Given the description of an element on the screen output the (x, y) to click on. 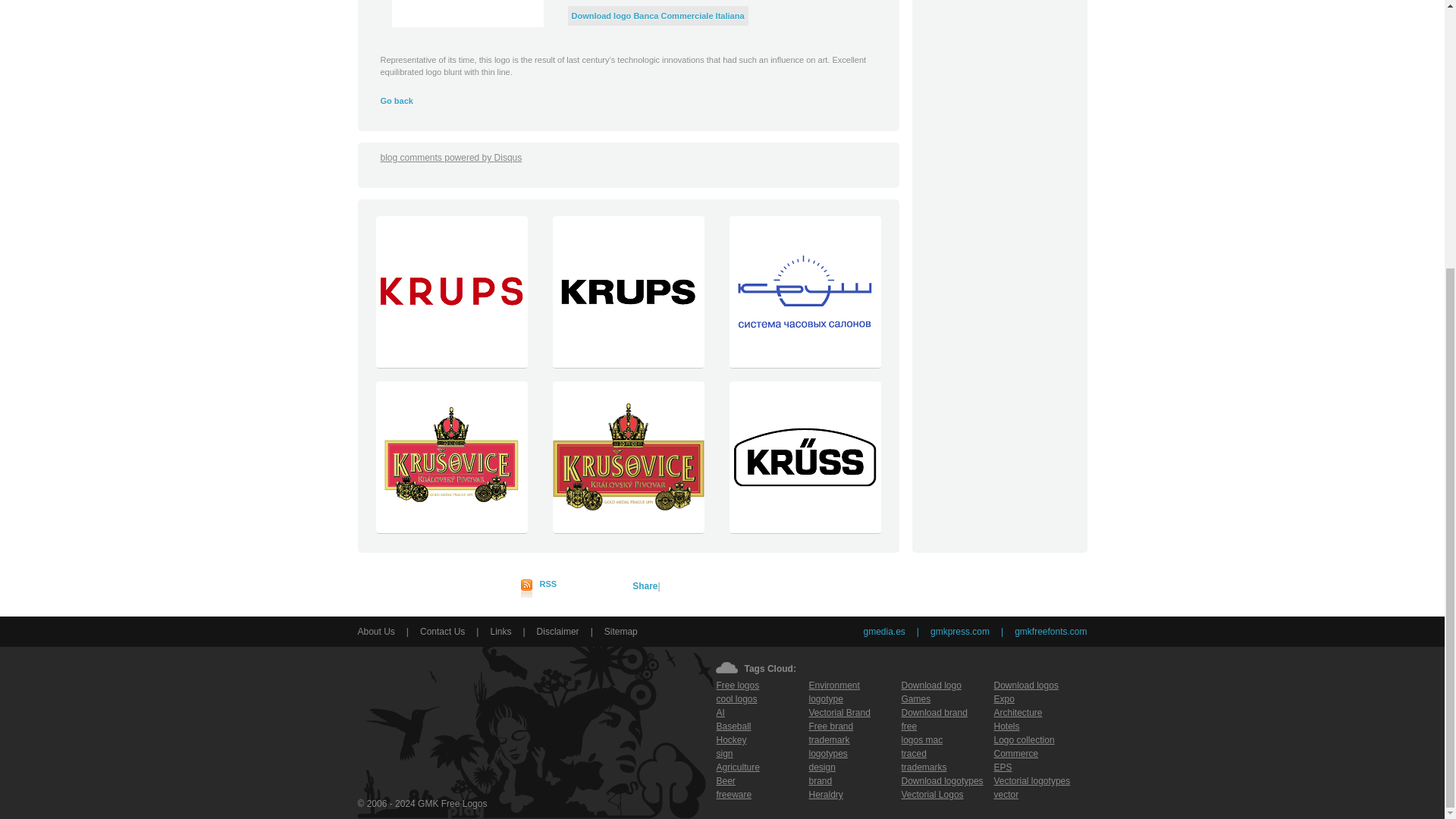
Download Logo Krusovice (450, 529)
Download Banca Commerciale Italiana (658, 15)
Download Logo Krups (450, 364)
Download Logo Krush (804, 364)
Download Logo Krups (627, 364)
Download Logo Krusovice (627, 529)
Go back (396, 100)
Download Banca Commerciale Italiana (467, 13)
